Given the description of an element on the screen output the (x, y) to click on. 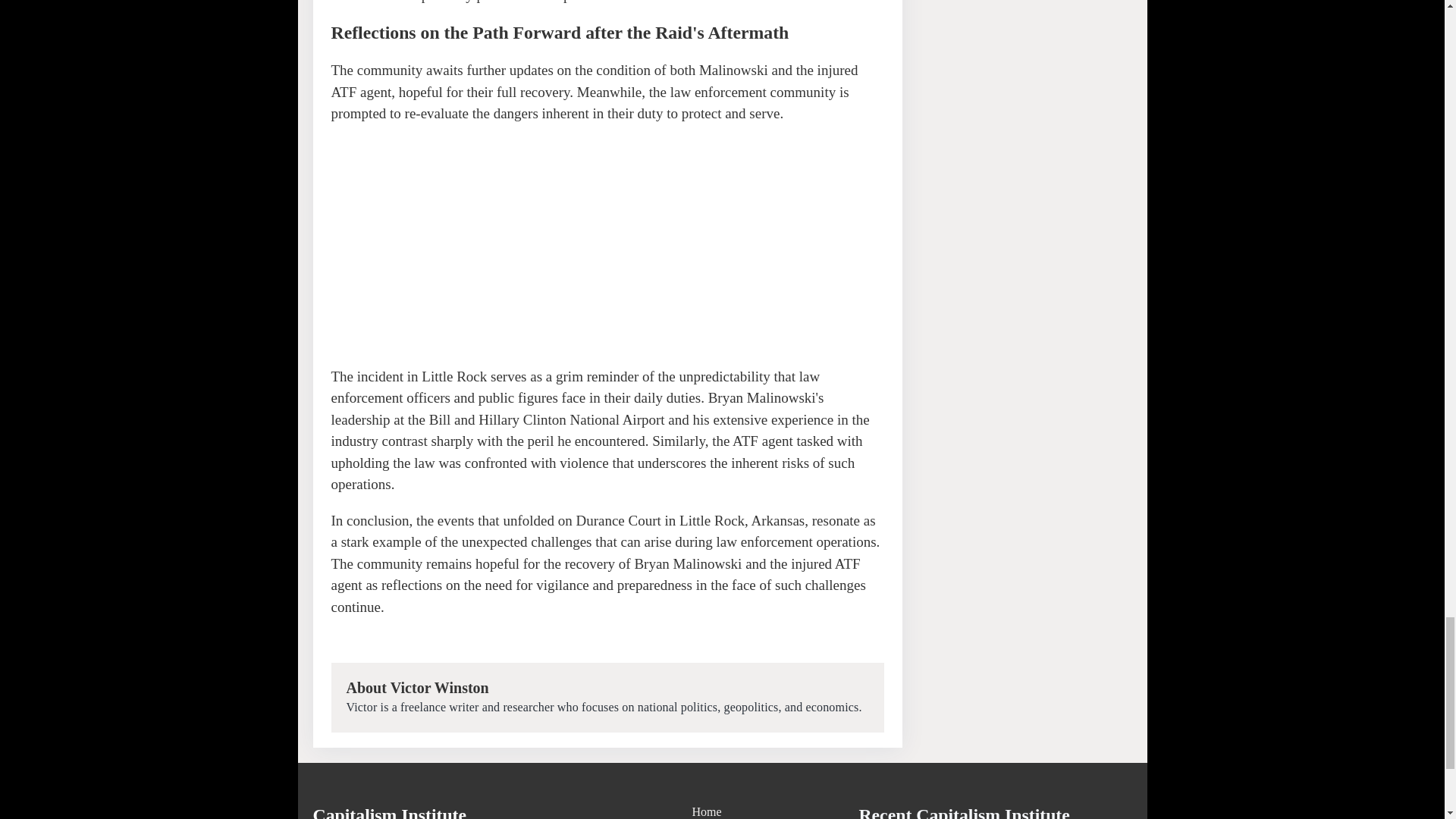
Capitalism Institute (390, 811)
Home (721, 811)
